Given the description of an element on the screen output the (x, y) to click on. 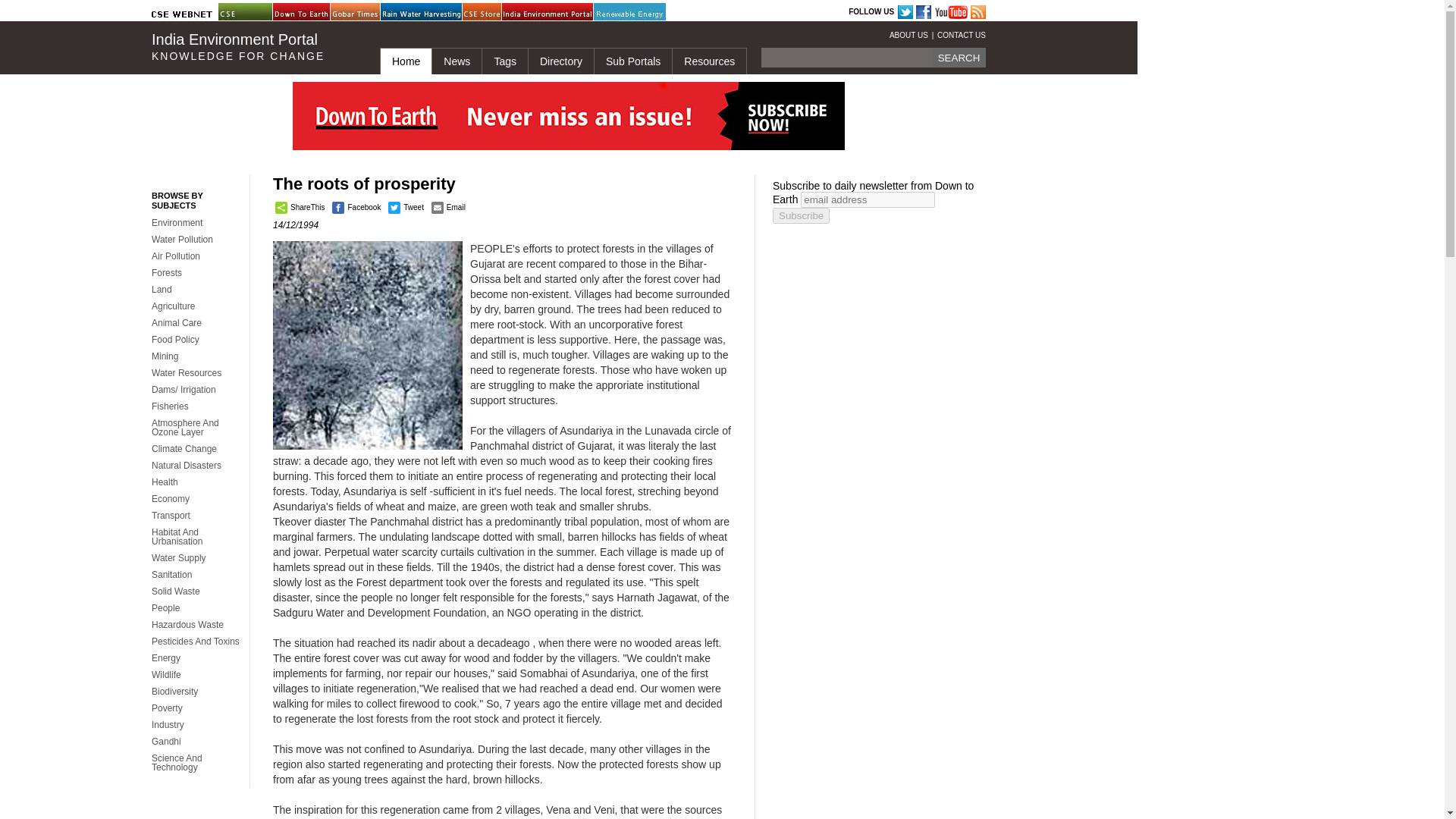
Gobar Times (368, 11)
Subscribe (801, 215)
Tags (504, 60)
CSE (256, 11)
India Environment Portal KNOWLEDGE FOR CHANGE (253, 46)
Home (405, 60)
Renewable Energy (631, 11)
News (455, 60)
India Environment Portal (540, 11)
Resources (708, 60)
Directory (560, 60)
Sub Portals (632, 60)
Rain Water Harvesting (418, 11)
CSE Store (500, 11)
Down to Earth (311, 11)
